Given the description of an element on the screen output the (x, y) to click on. 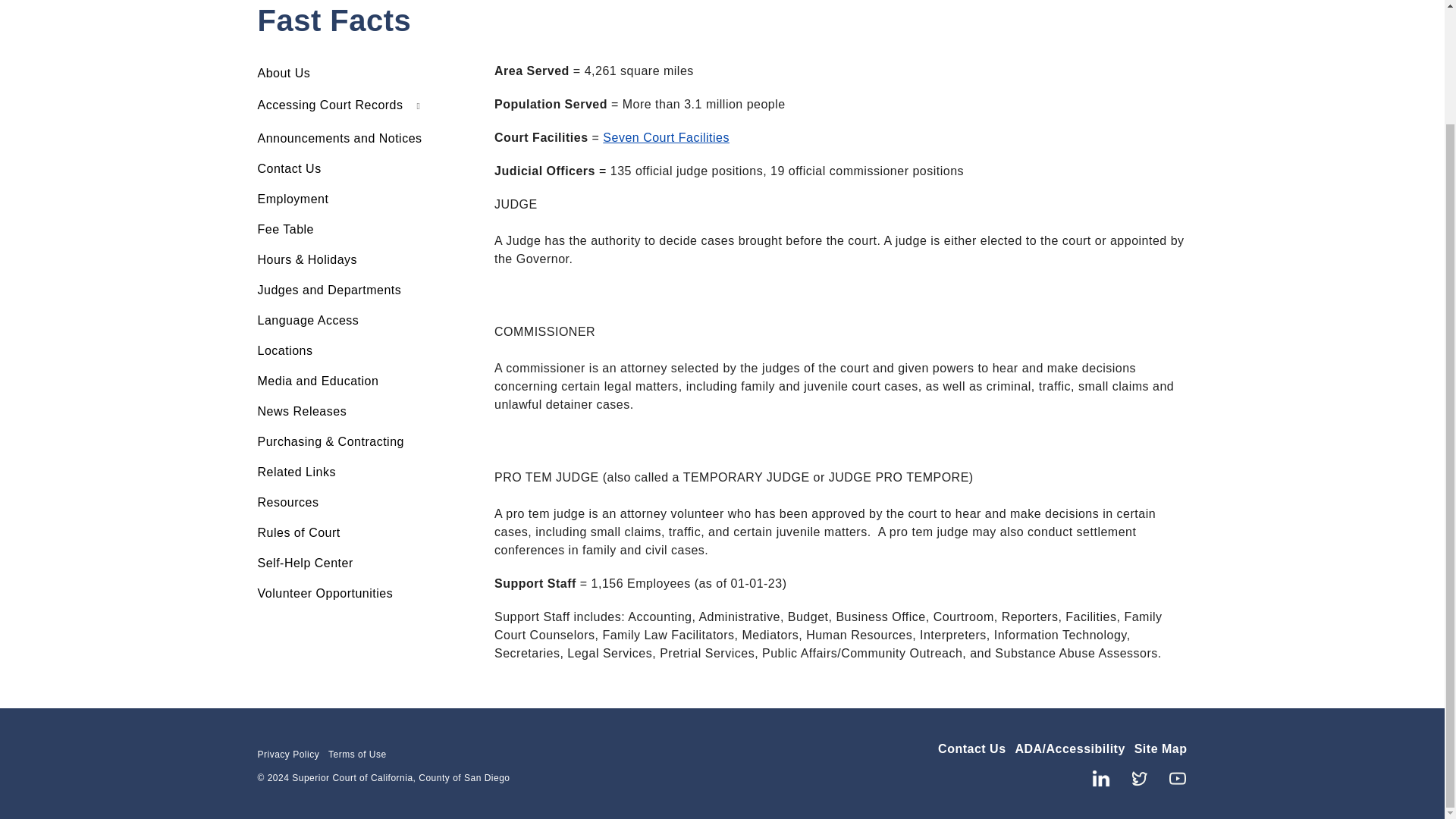
Youtube Social link (1171, 777)
Twitter Link (1133, 777)
LinkedIn Link (1094, 777)
